Given the description of an element on the screen output the (x, y) to click on. 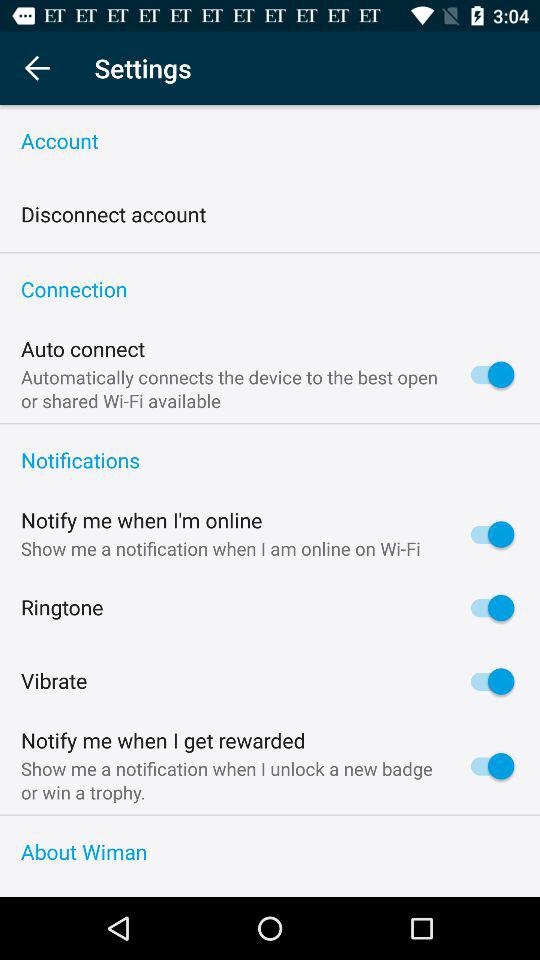
flip until ringtone (62, 607)
